Given the description of an element on the screen output the (x, y) to click on. 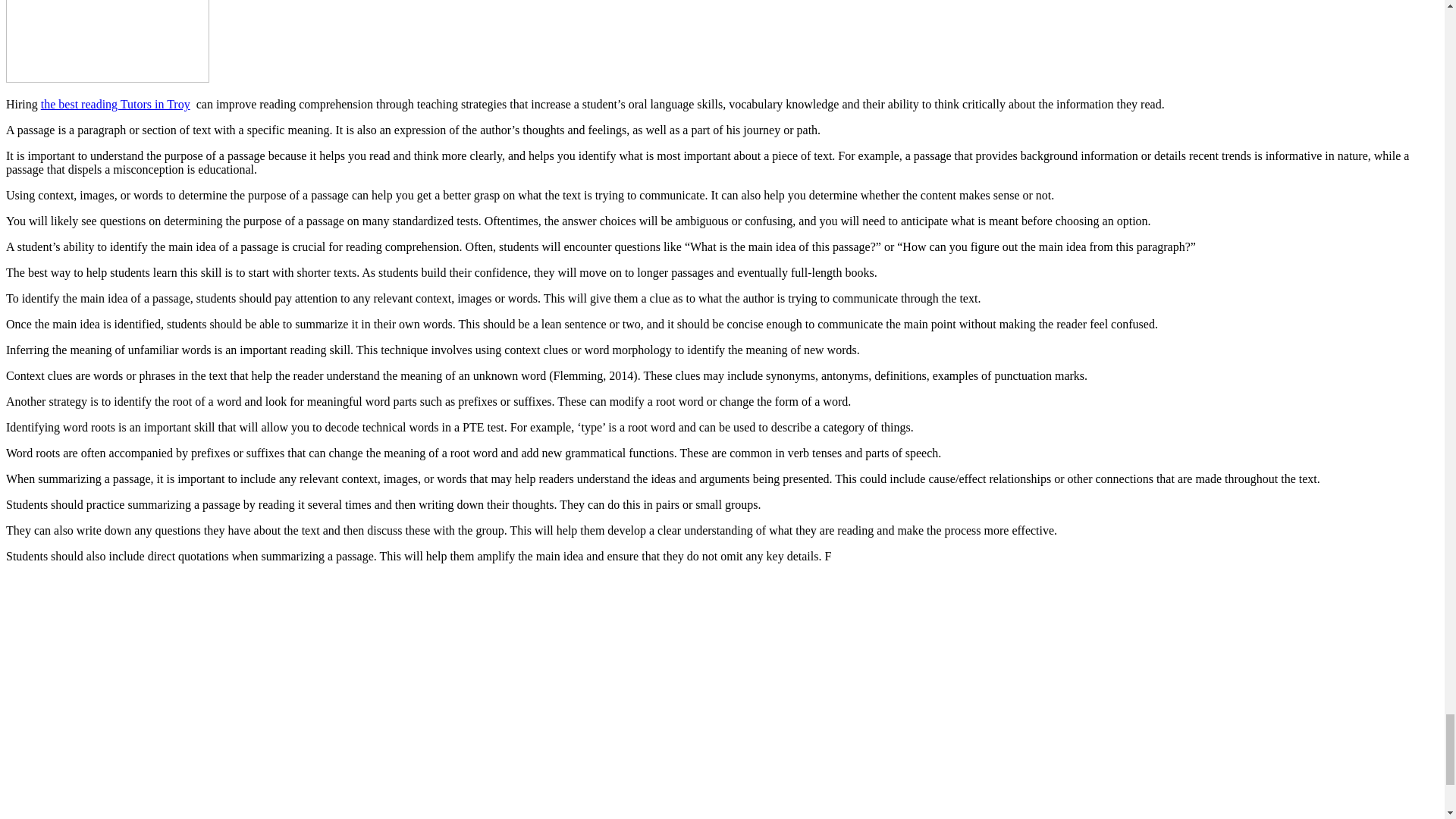
YouTube video player (217, 694)
